Given the description of an element on the screen output the (x, y) to click on. 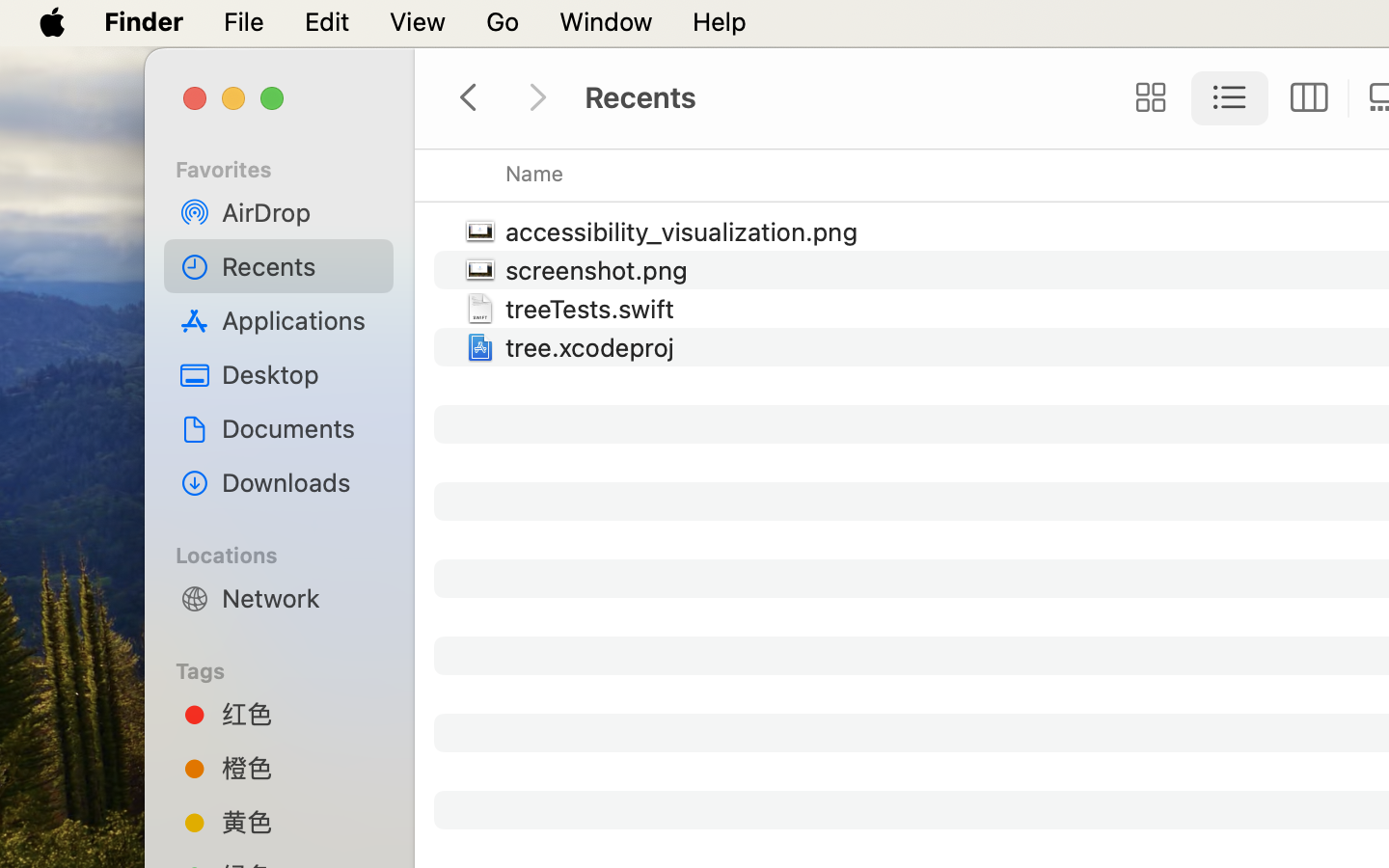
橙色 Element type: AXStaticText (299, 767)
红色 Element type: AXStaticText (299, 713)
黄色 Element type: AXStaticText (299, 821)
0 Element type: AXRadioButton (1144, 97)
treeTests.swift Element type: AXTextField (593, 308)
